Given the description of an element on the screen output the (x, y) to click on. 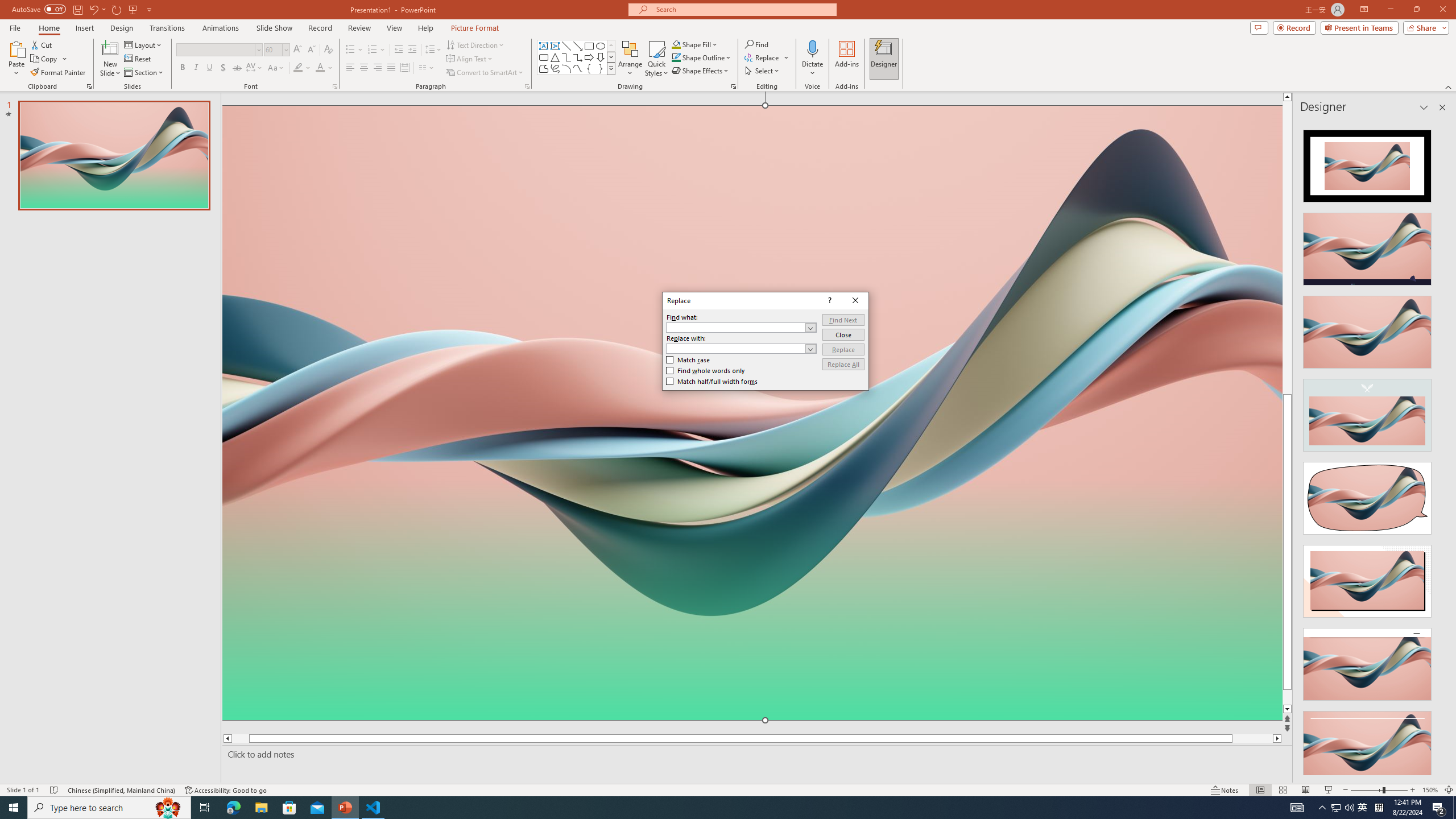
Replace All (842, 364)
Class: NetUIScrollBar (1441, 447)
Find what (735, 327)
